Given the description of an element on the screen output the (x, y) to click on. 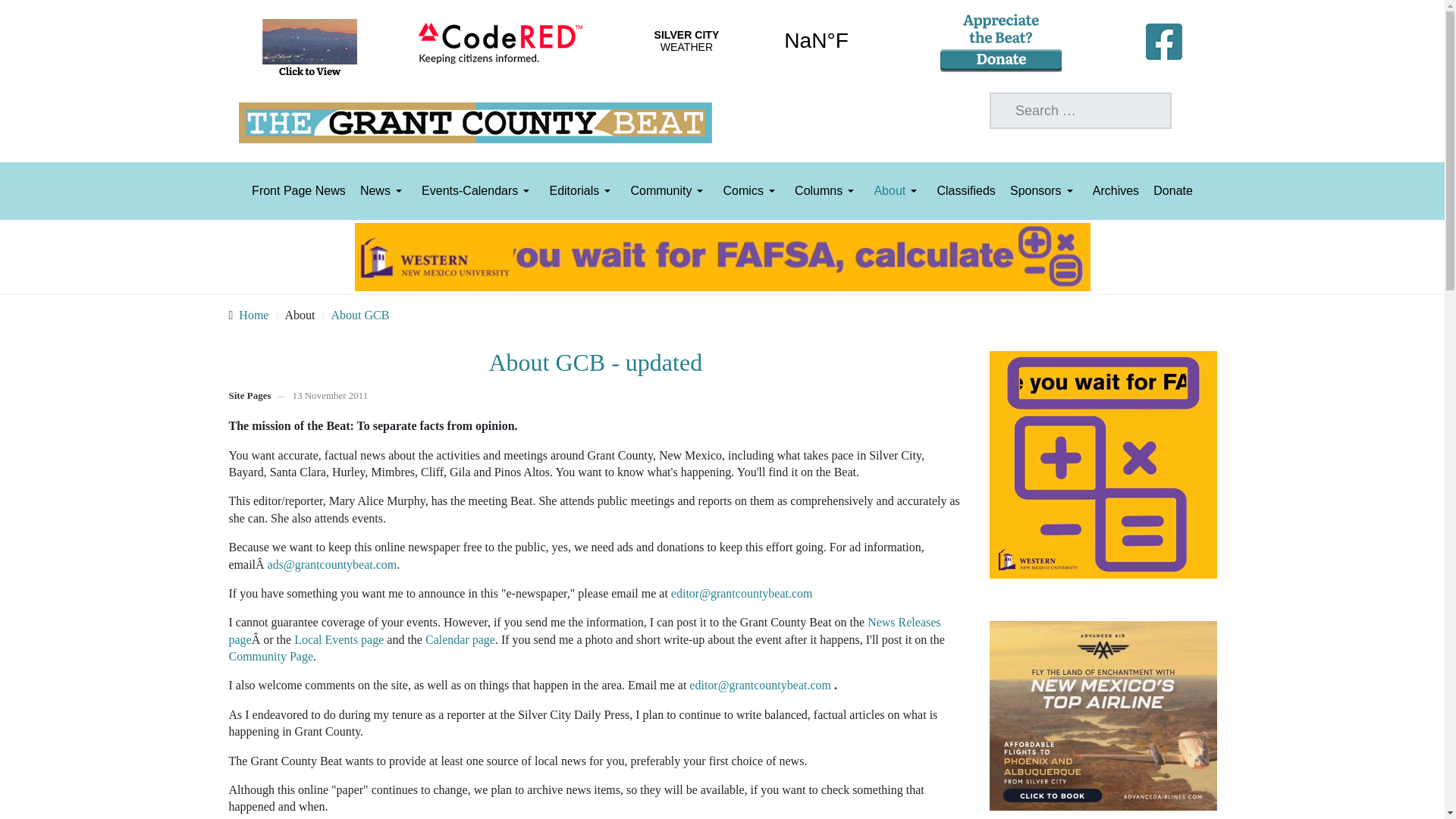
Front Page News (298, 190)
WNMU tuition calculator leaderboard (722, 255)
Events-Calendars (477, 190)
Community (669, 190)
Advanced Airlines 2023-24 (1103, 714)
WNMU tuition calculator (1103, 463)
Grant County Beat on Facebook (1163, 38)
SILVER CITY WEATHER (750, 40)
Comics (751, 190)
Columns (826, 190)
